Given the description of an element on the screen output the (x, y) to click on. 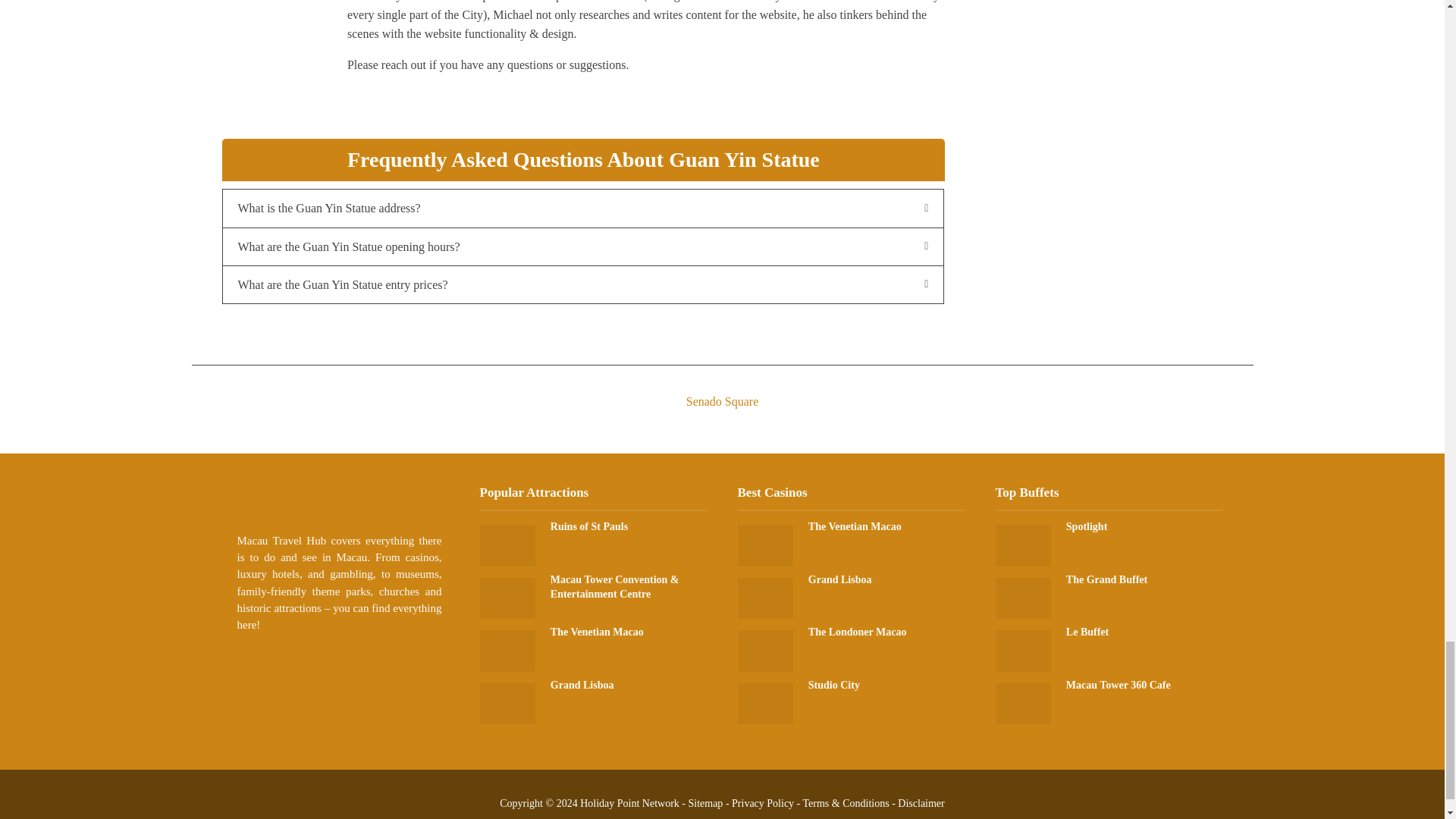
Senado Square (721, 387)
